Given the description of an element on the screen output the (x, y) to click on. 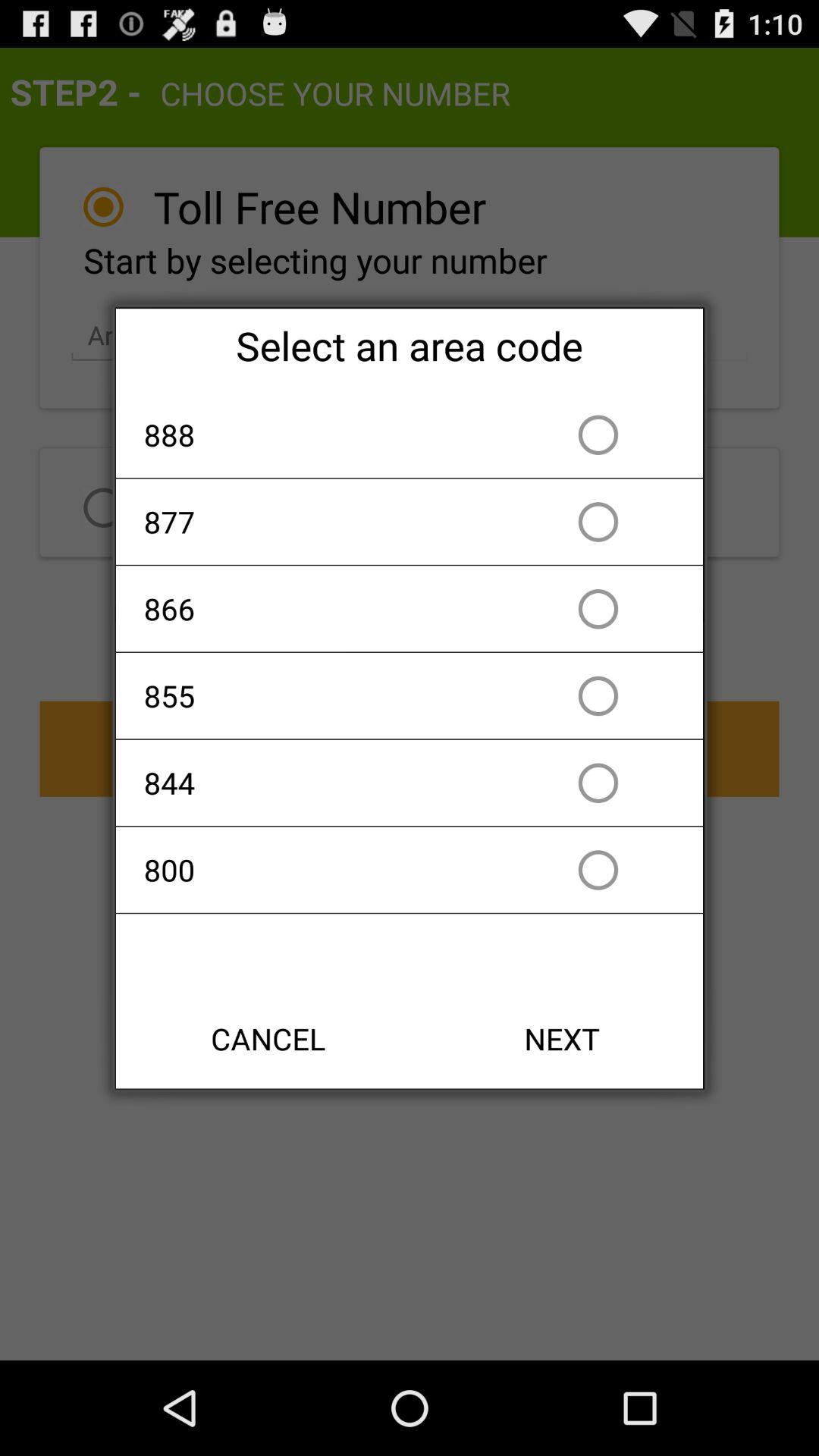
open the app below 800 (268, 1038)
